Given the description of an element on the screen output the (x, y) to click on. 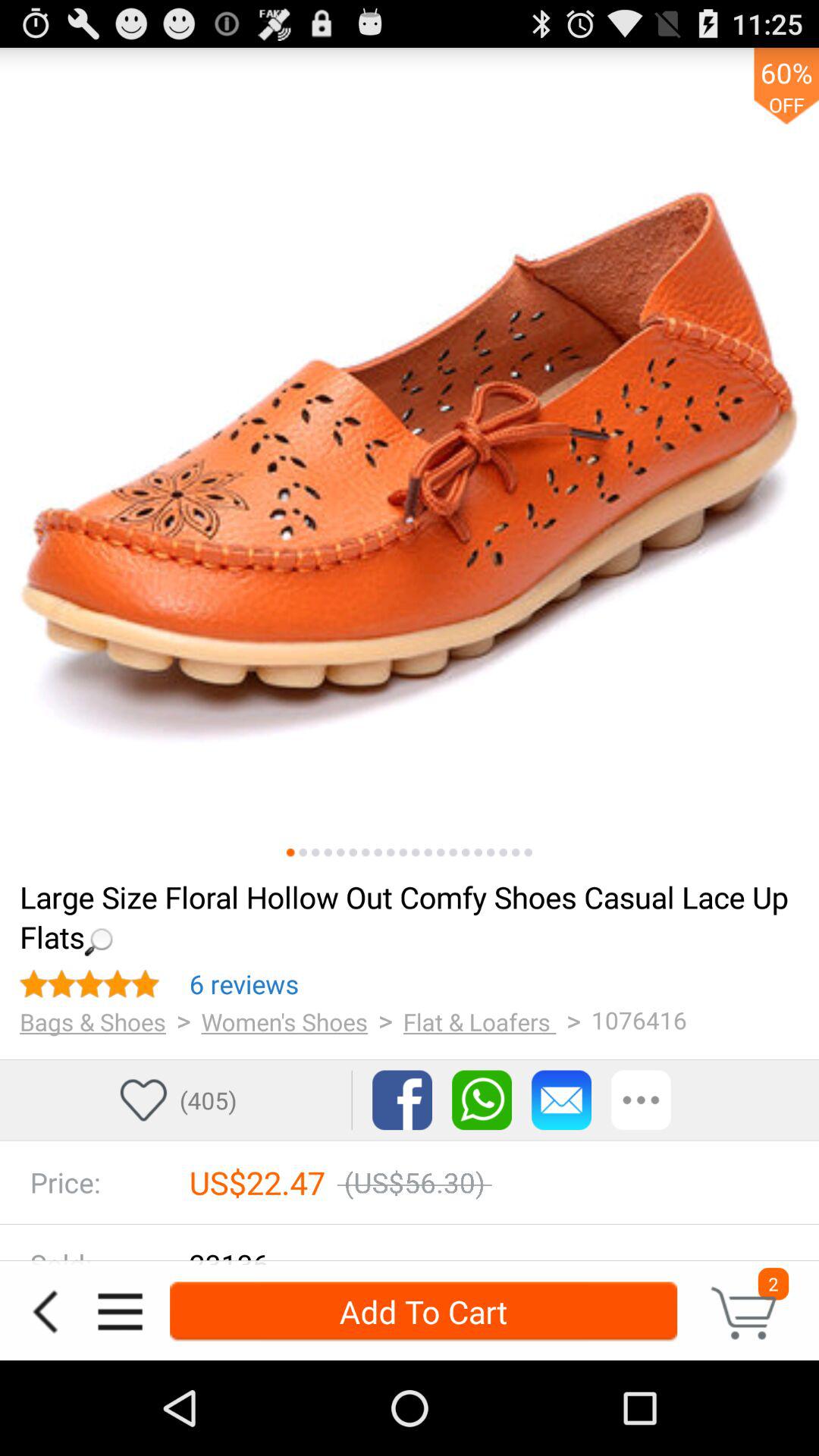
tap item above loading... icon (403, 852)
